Given the description of an element on the screen output the (x, y) to click on. 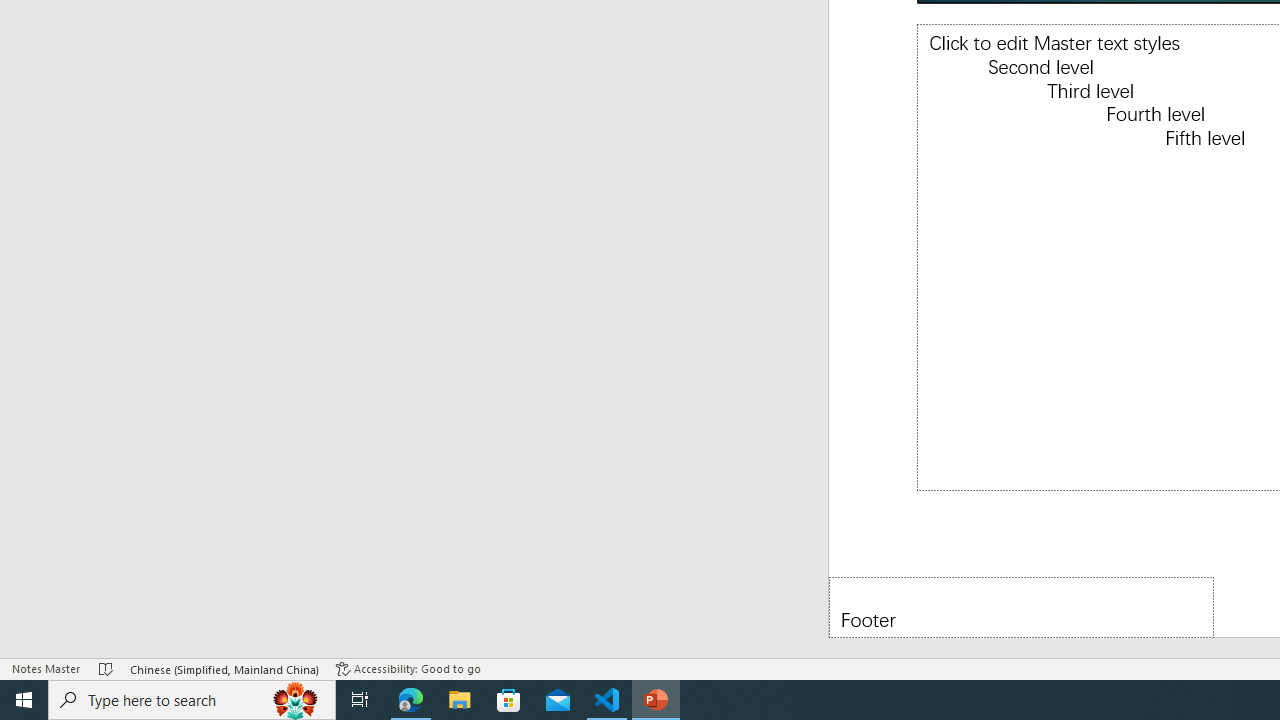
Footer (1021, 606)
